Given the description of an element on the screen output the (x, y) to click on. 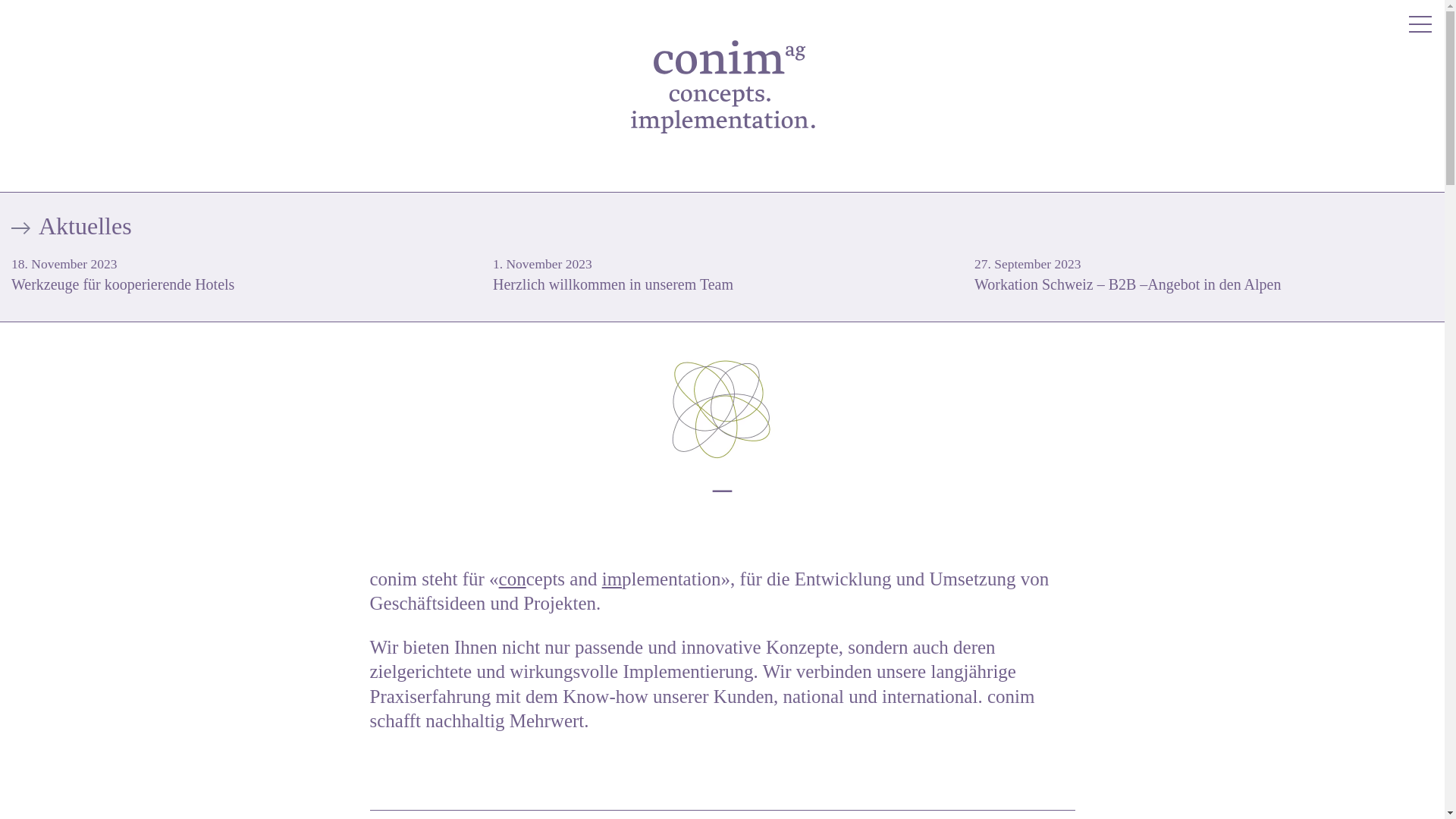
1. November 2023
Herzlich willkommen in unserem Team Element type: text (721, 272)
Aktuelles Element type: text (722, 225)
